Given the description of an element on the screen output the (x, y) to click on. 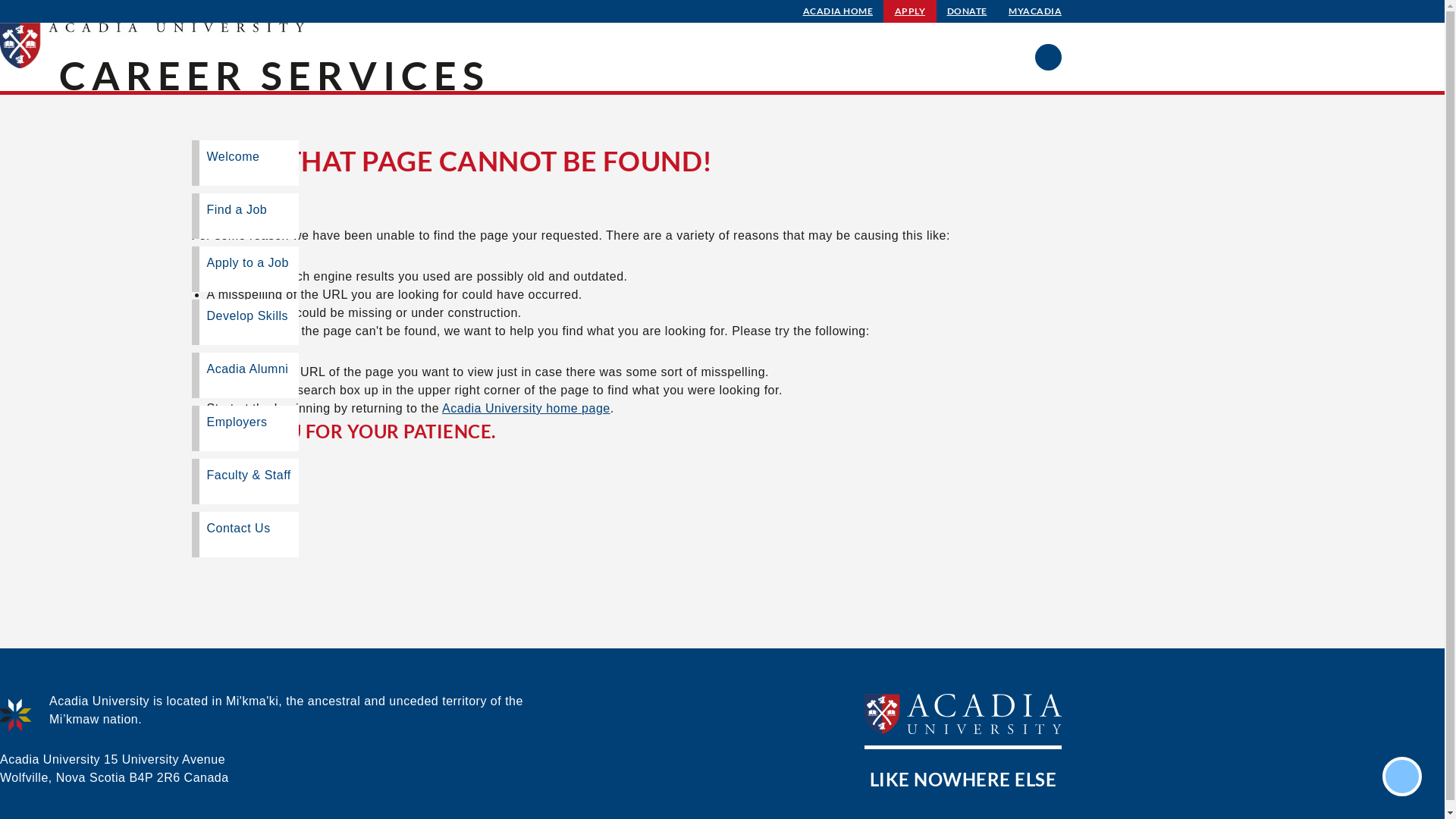
Contact Us Element type: text (244, 534)
ACADIA HOME Element type: text (837, 11)
CAREER SERVICES Element type: text (274, 74)
Develop Skills Element type: text (244, 322)
Employers Element type: text (244, 428)
Faculty & Staff Element type: text (244, 481)
Apply to a Job Element type: text (244, 268)
Welcome Element type: text (244, 162)
APPLY Element type: text (909, 11)
Acadia University home page Element type: text (526, 407)
MYACADIA Element type: text (1035, 11)
Find a Job Element type: text (244, 215)
Acadia Alumni Element type: text (244, 375)
DONATE Element type: text (966, 11)
